Given the description of an element on the screen output the (x, y) to click on. 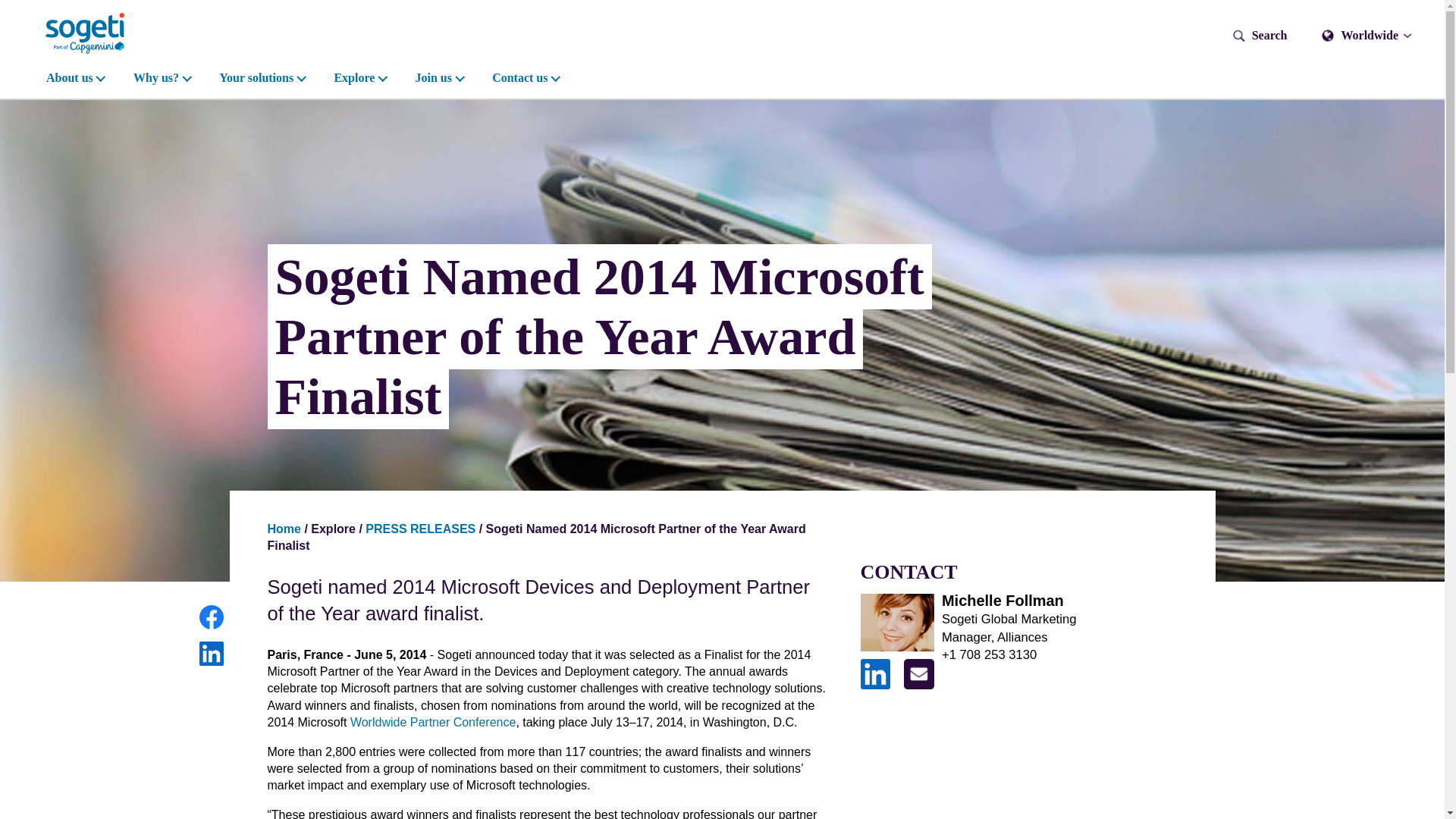
Share on LinkedIn (210, 653)
To menu (4, 4)
LinkedIn (874, 674)
Worldwide Partner Conference (432, 721)
Share on Facebook (210, 617)
